Given the description of an element on the screen output the (x, y) to click on. 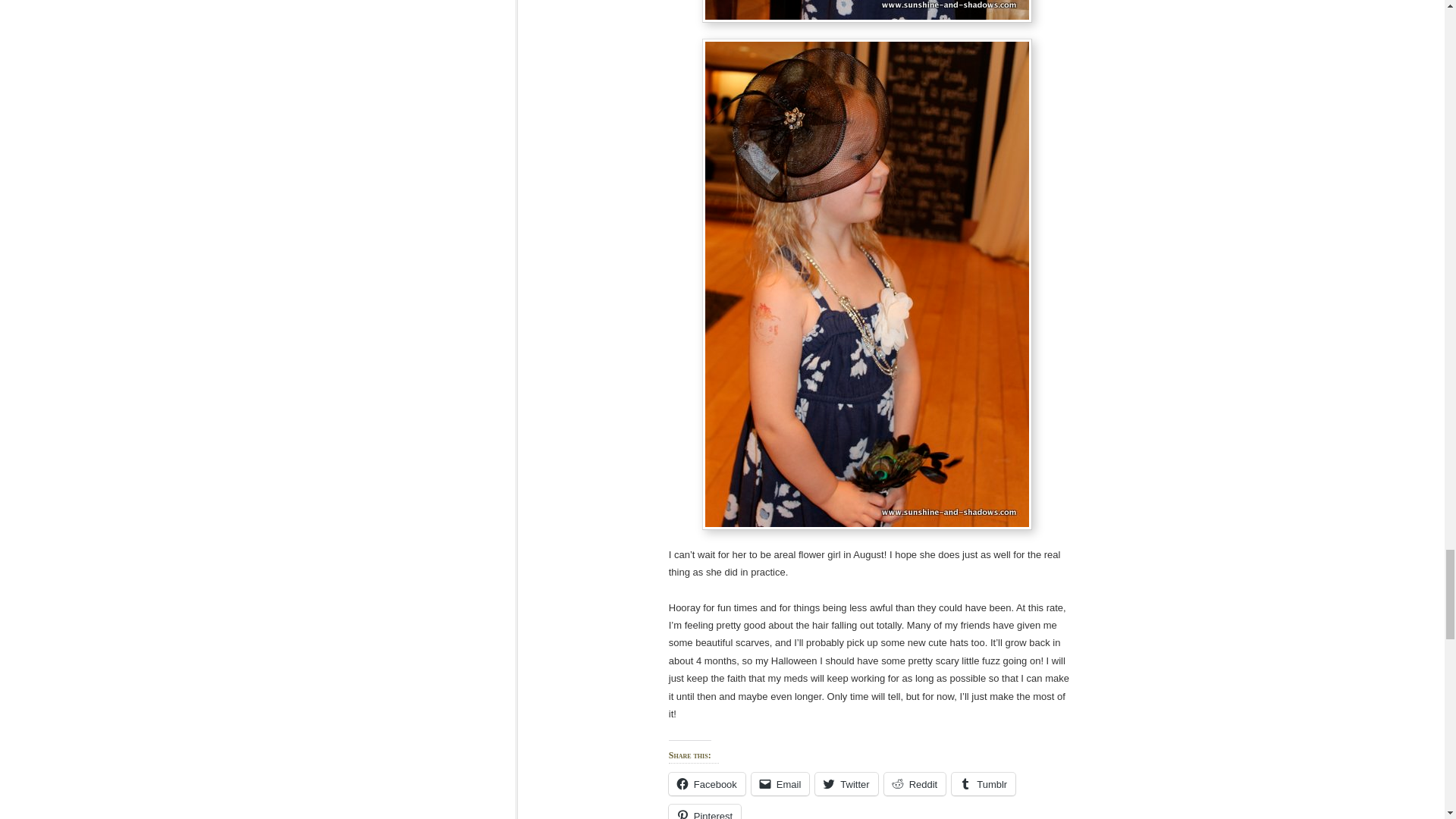
Click to share on Reddit (914, 784)
Click to email a link to a friend (780, 784)
Pinterest (704, 811)
Tumblr (983, 784)
Click to share on Twitter (846, 784)
Reddit (914, 784)
Twitter (846, 784)
Email (780, 784)
Click to share on Tumblr (983, 784)
Facebook (706, 784)
Click to share on Pinterest (704, 811)
Click to share on Facebook (706, 784)
